Given the description of an element on the screen output the (x, y) to click on. 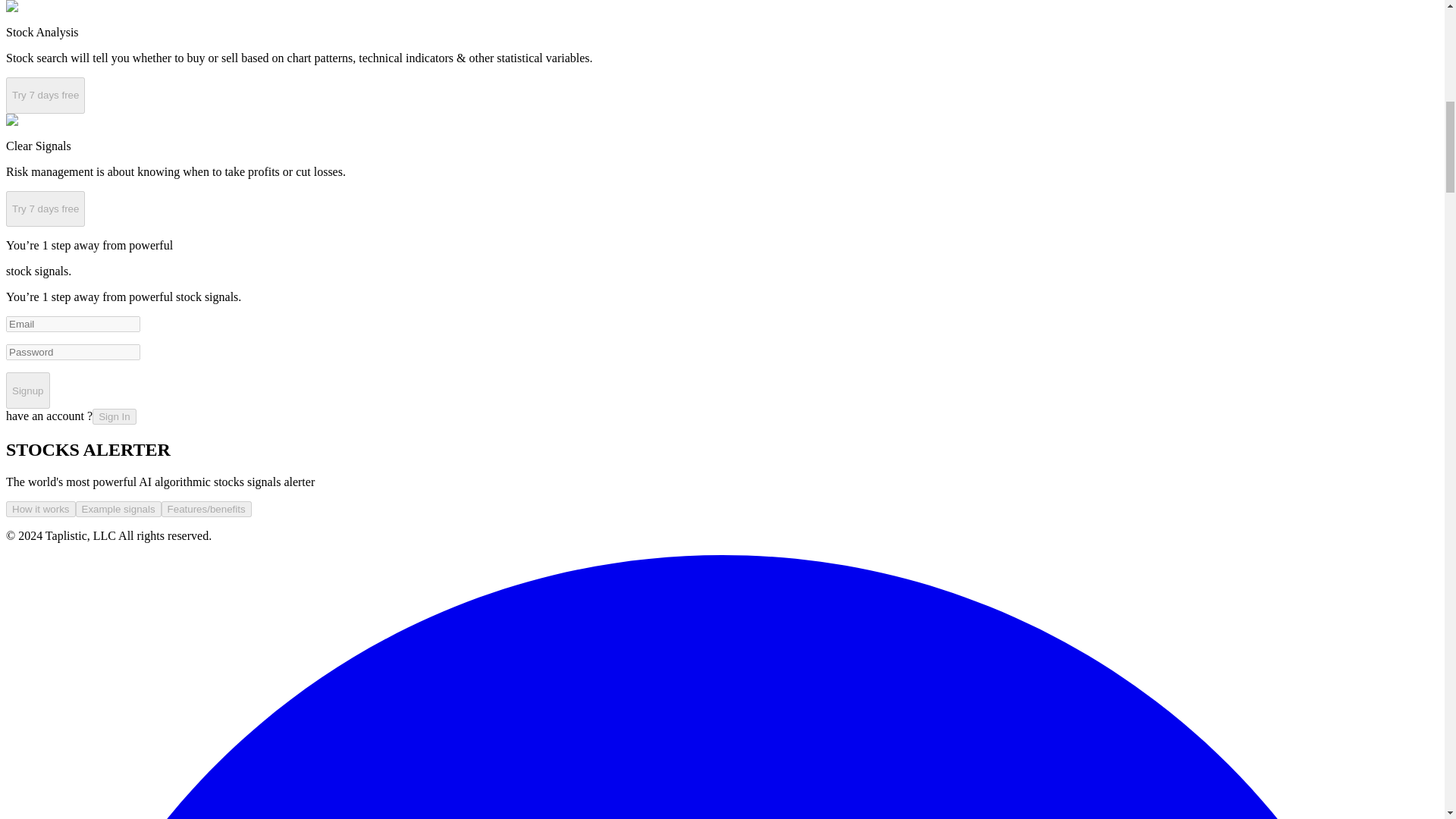
Try 7 days free (44, 208)
Example signals (118, 509)
How it works (40, 508)
Try 7 days free (44, 94)
Signup (27, 390)
Example signals (118, 508)
Sign In (114, 416)
How it works (40, 509)
